Given the description of an element on the screen output the (x, y) to click on. 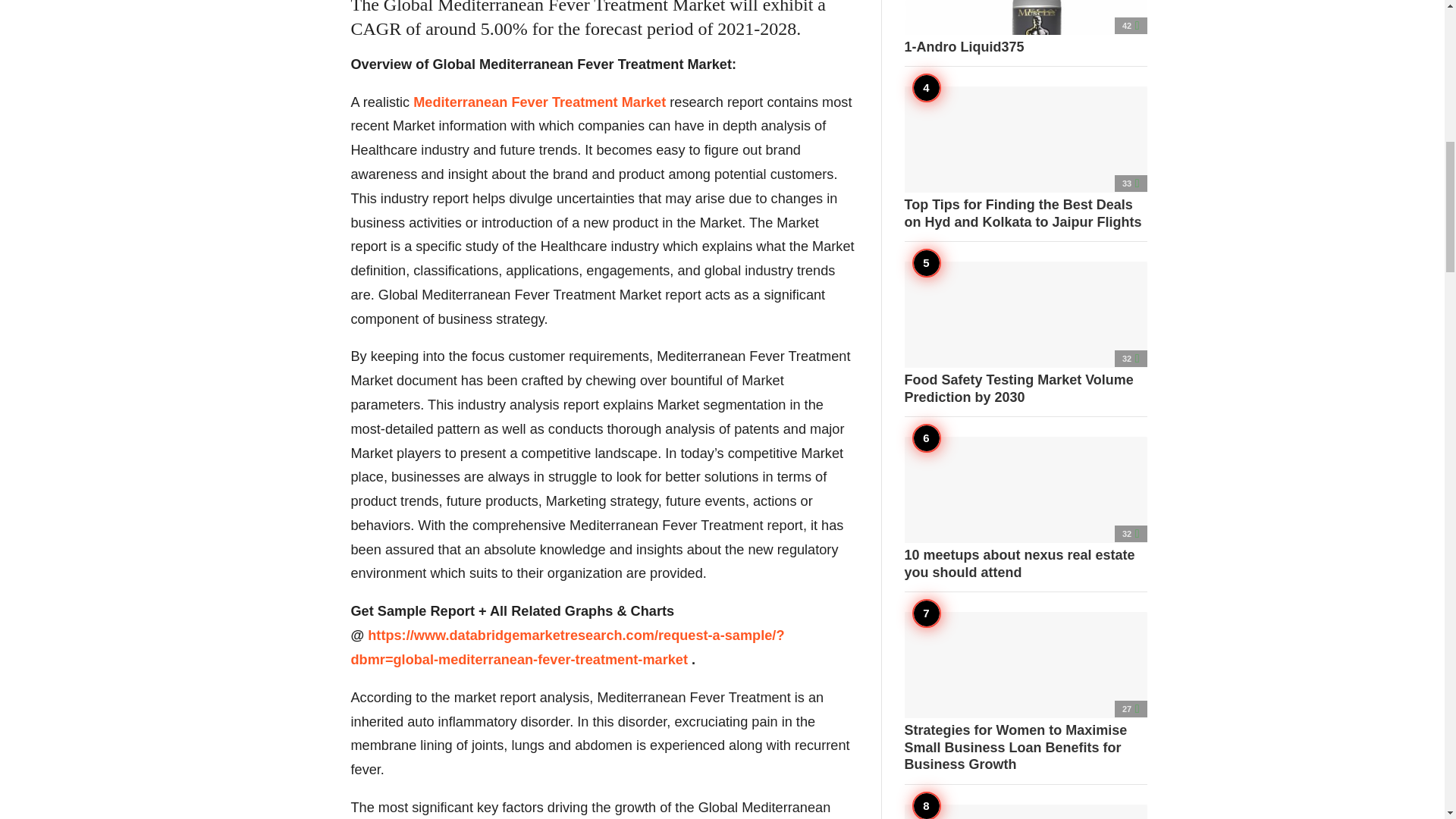
10 meetups about nexus real estate you should attend (1025, 508)
1-Andro Liquid375 (1025, 28)
Food Safety Testing Market Volume Prediction by 2030 (1025, 333)
